Given the description of an element on the screen output the (x, y) to click on. 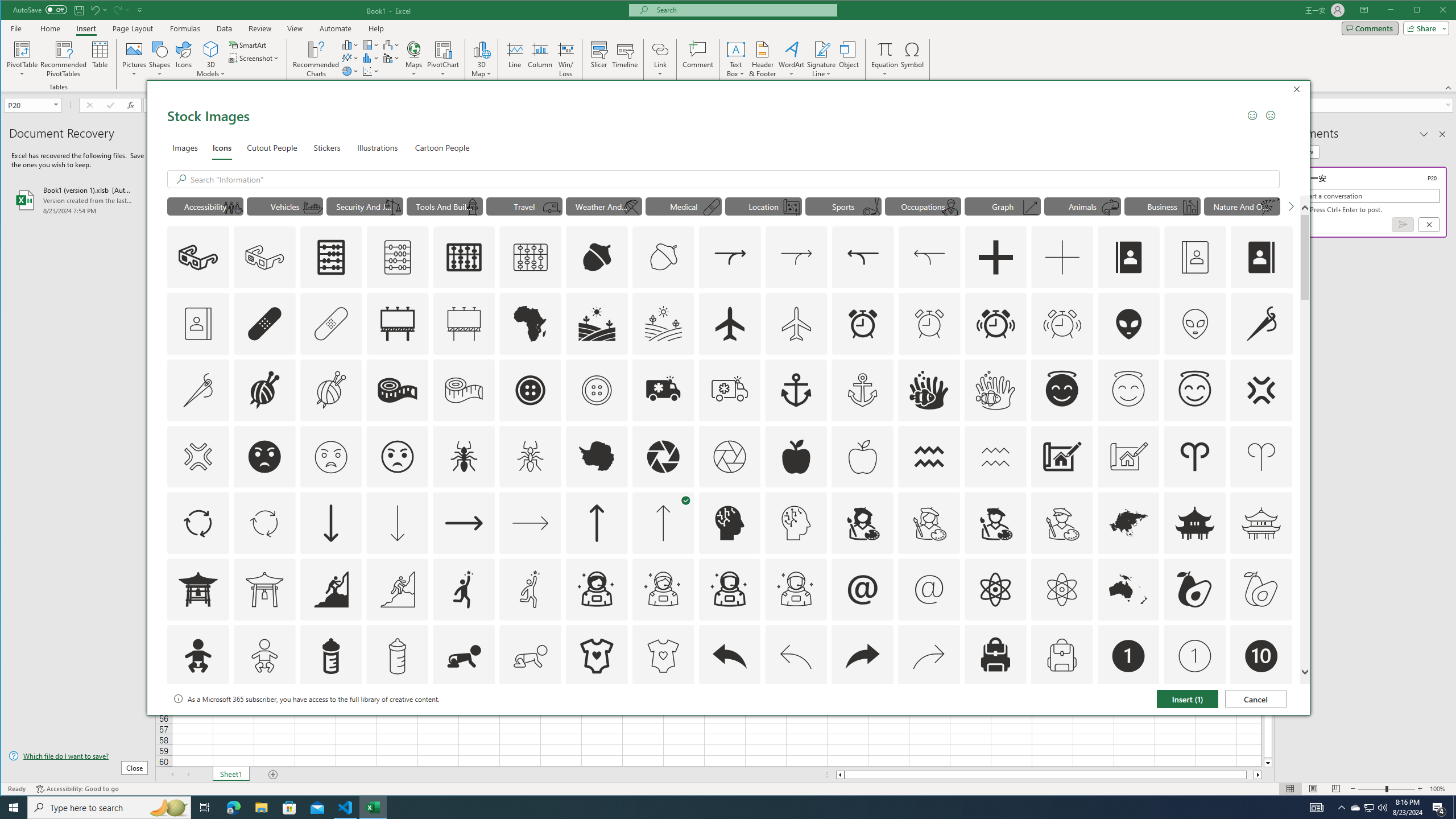
outline (1194, 389)
Equation (884, 59)
AutomationID: Icons_AlterationsTailoring_M (197, 389)
Timeline (625, 59)
AutomationID: Icons_ArrowRight (464, 522)
AutomationID: Icons_AstronautMale (729, 589)
AutomationID: Icons_Aspiration1 (464, 589)
Maximize (1432, 11)
Shapes (159, 59)
PivotChart (443, 48)
AutomationID: Icons_AnemoneAndClownfish (928, 389)
AutomationID: Icons_FireHydrant_M (473, 207)
